Given the description of an element on the screen output the (x, y) to click on. 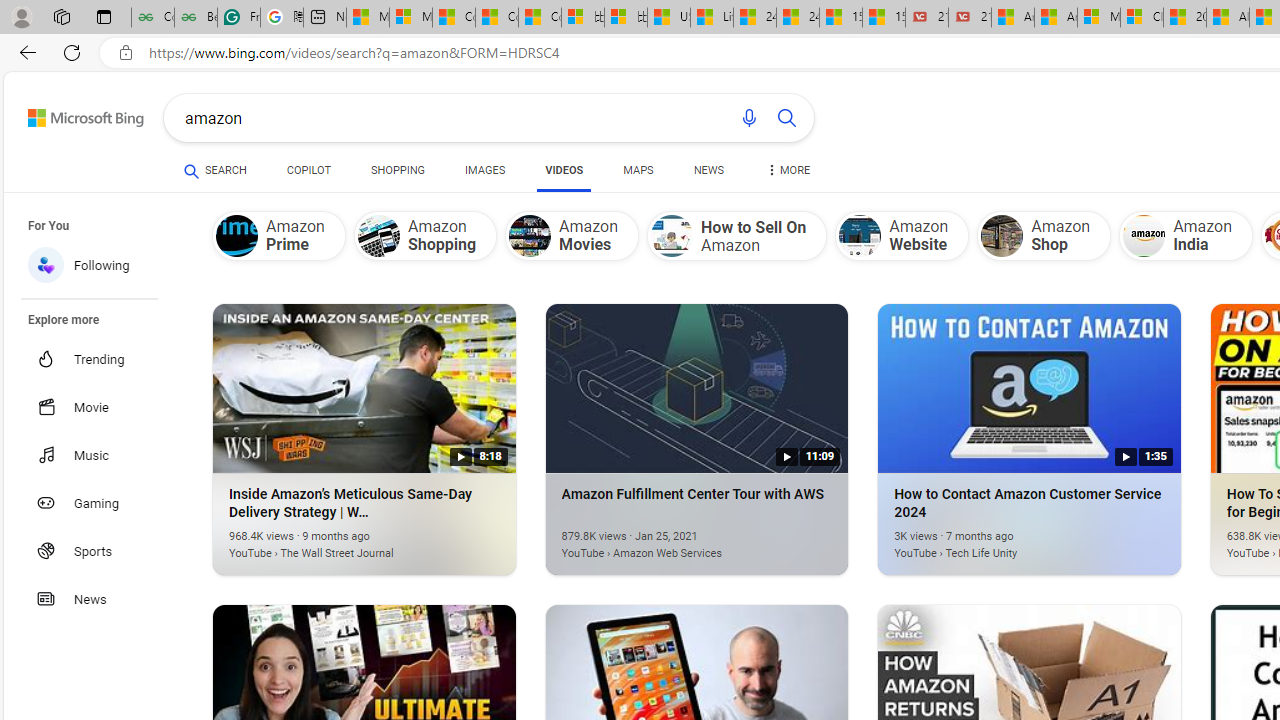
SEARCH (215, 170)
Amazon Shop (1044, 235)
SEARCH (215, 170)
Free AI Writing Assistance for Students | Grammarly (238, 17)
MAPS (637, 170)
Complete Guide to Arrays Data Structure - GeeksforGeeks (152, 17)
Amazon Prime (237, 236)
Sports (99, 550)
COPILOT (308, 173)
NEWS (708, 173)
